Given the description of an element on the screen output the (x, y) to click on. 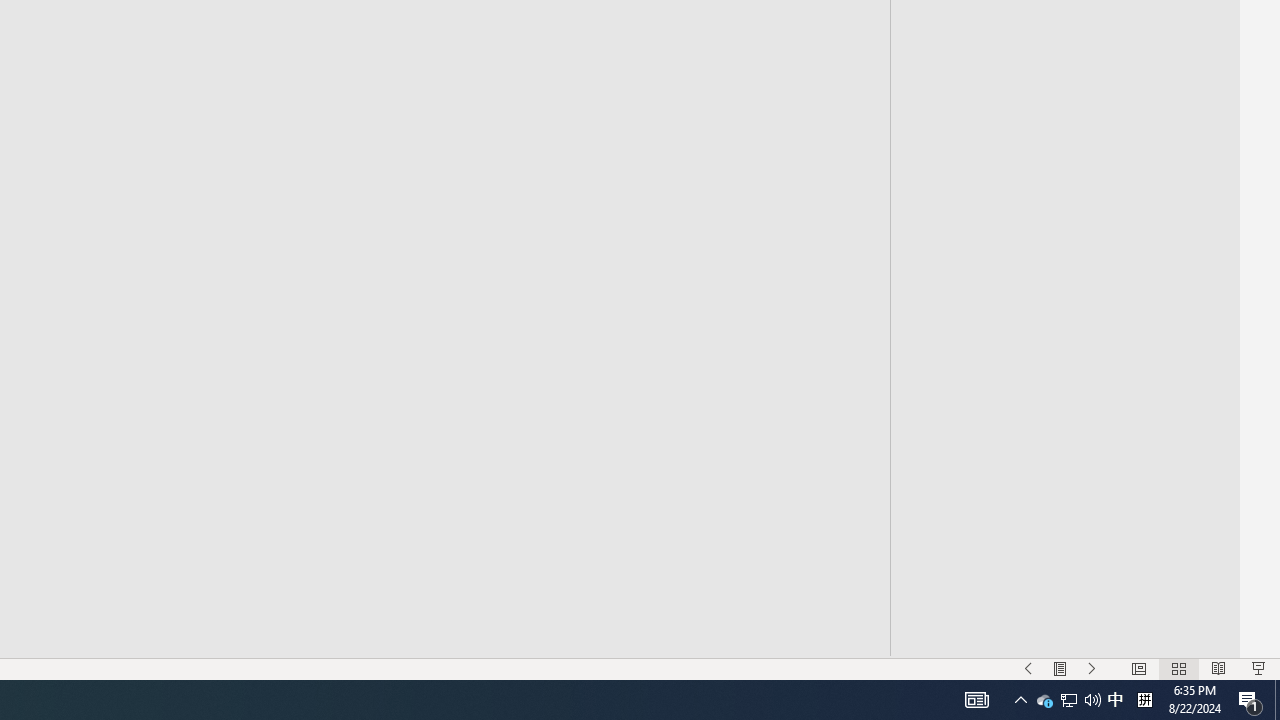
Menu On (1060, 668)
Slide Show Next On (1092, 668)
Slide Show Previous On (1028, 668)
